Given the description of an element on the screen output the (x, y) to click on. 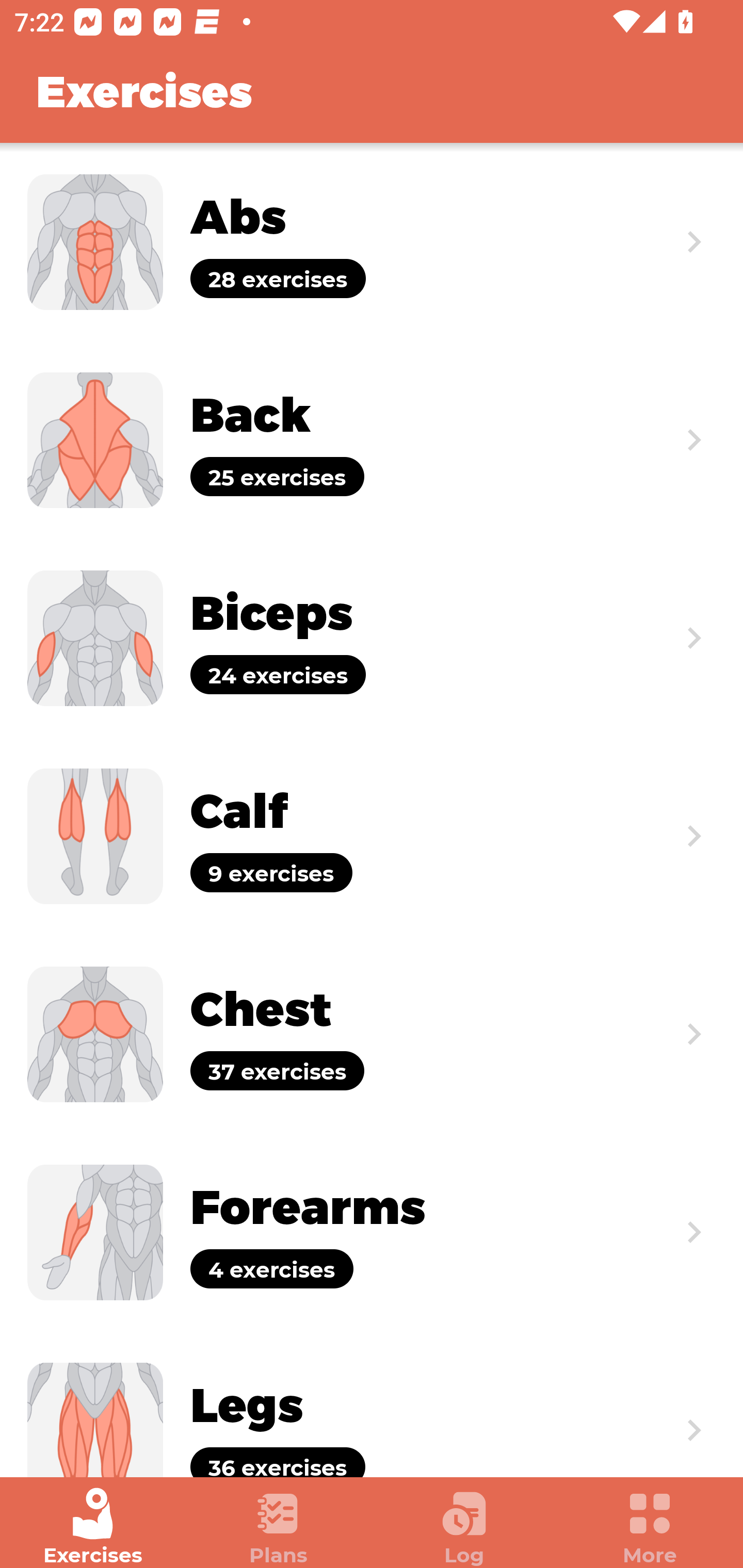
Exercise Abs 28 exercises (371, 241)
Exercise Back 25 exercises (371, 439)
Exercise Biceps 24 exercises (371, 637)
Exercise Calf 9 exercises (371, 836)
Exercise Chest 37 exercises (371, 1033)
Exercise Forearms 4 exercises (371, 1232)
Exercise Legs 36 exercises (371, 1404)
Exercises (92, 1527)
Plans (278, 1527)
Log (464, 1527)
More (650, 1527)
